Given the description of an element on the screen output the (x, y) to click on. 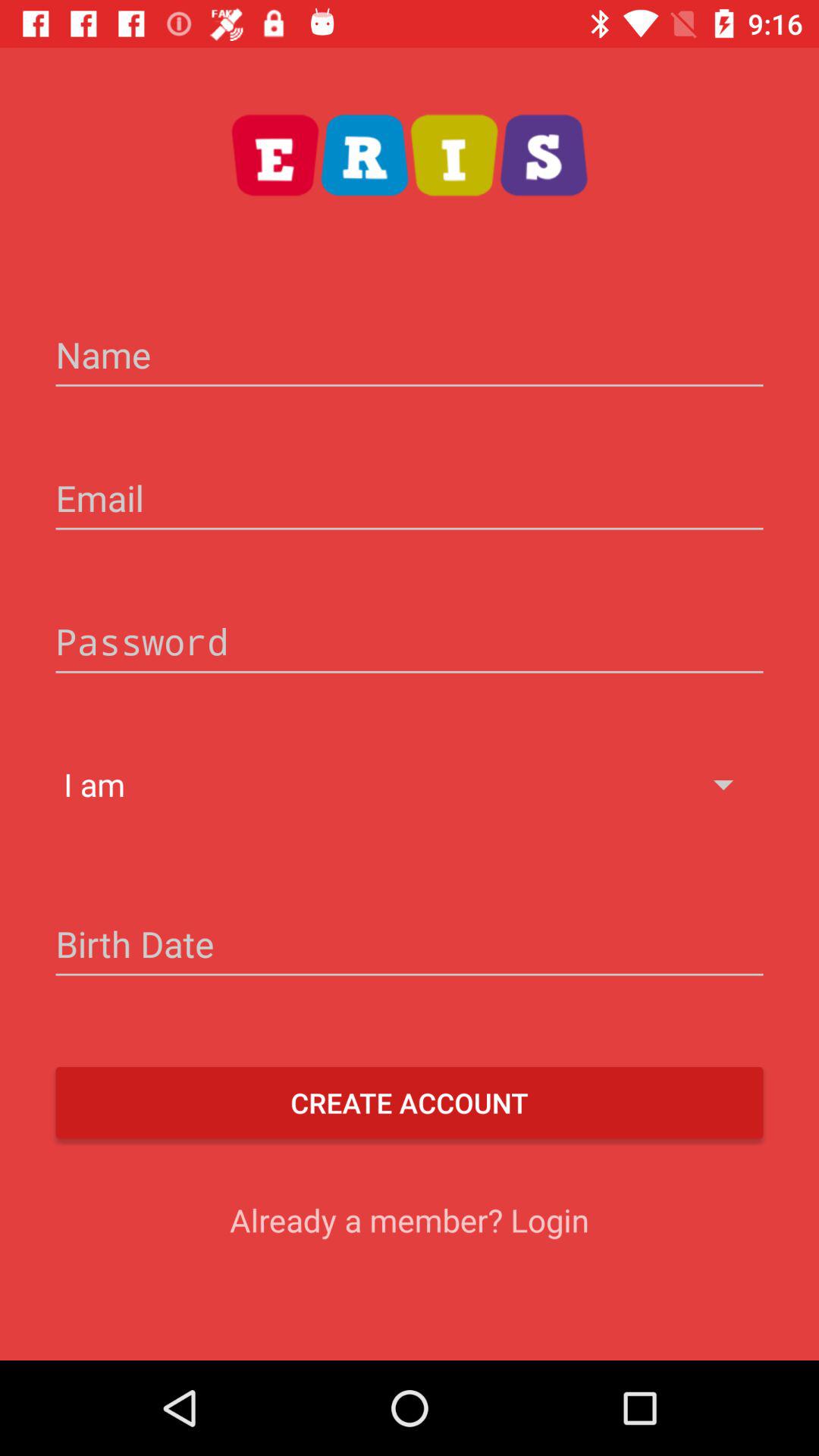
open the create account item (409, 1102)
